Given the description of an element on the screen output the (x, y) to click on. 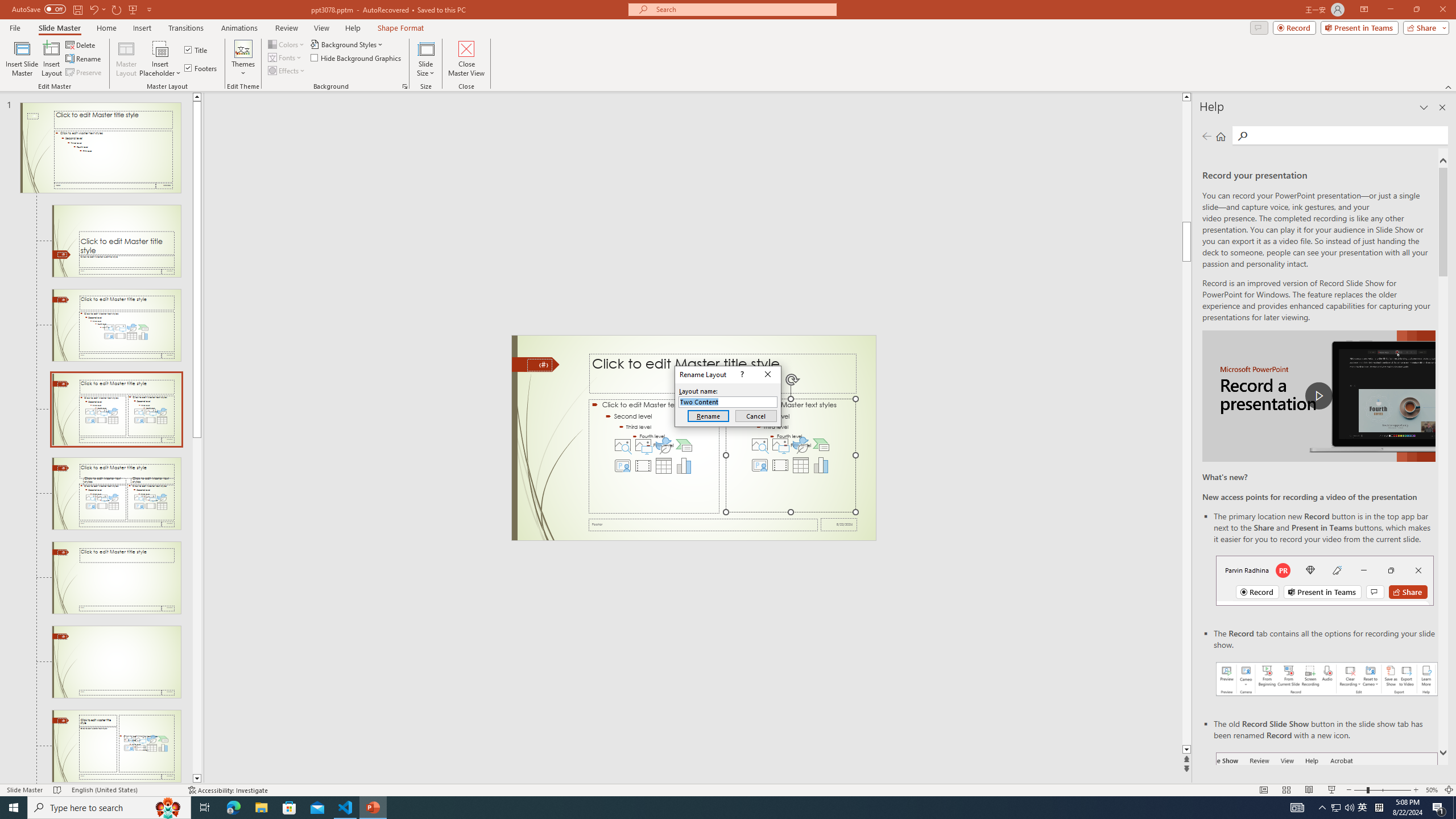
play Record a Presentation (1318, 395)
Insert a SmartArt Graphic (820, 444)
Content (160, 48)
Footers (201, 67)
Record your presentations screenshot one (1326, 678)
